Given the description of an element on the screen output the (x, y) to click on. 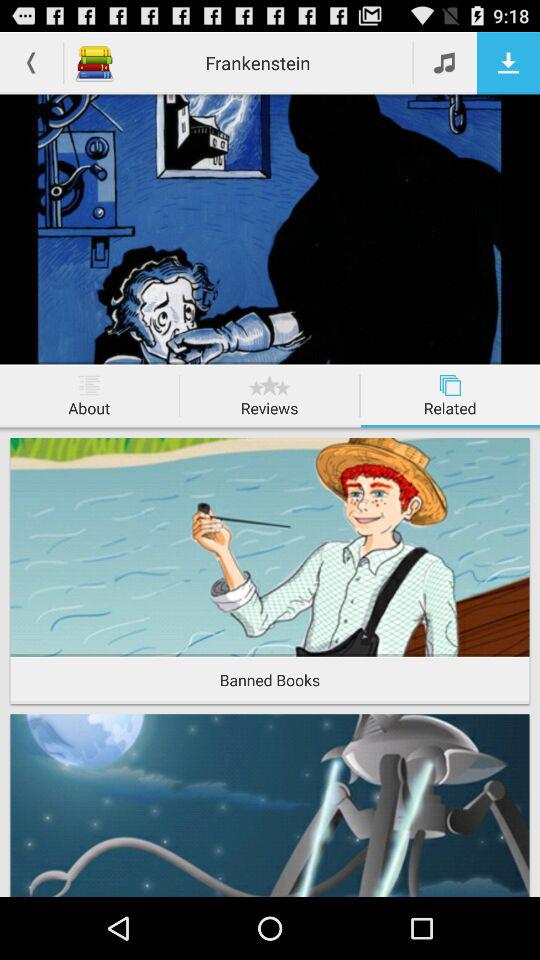
search for song (445, 62)
